Given the description of an element on the screen output the (x, y) to click on. 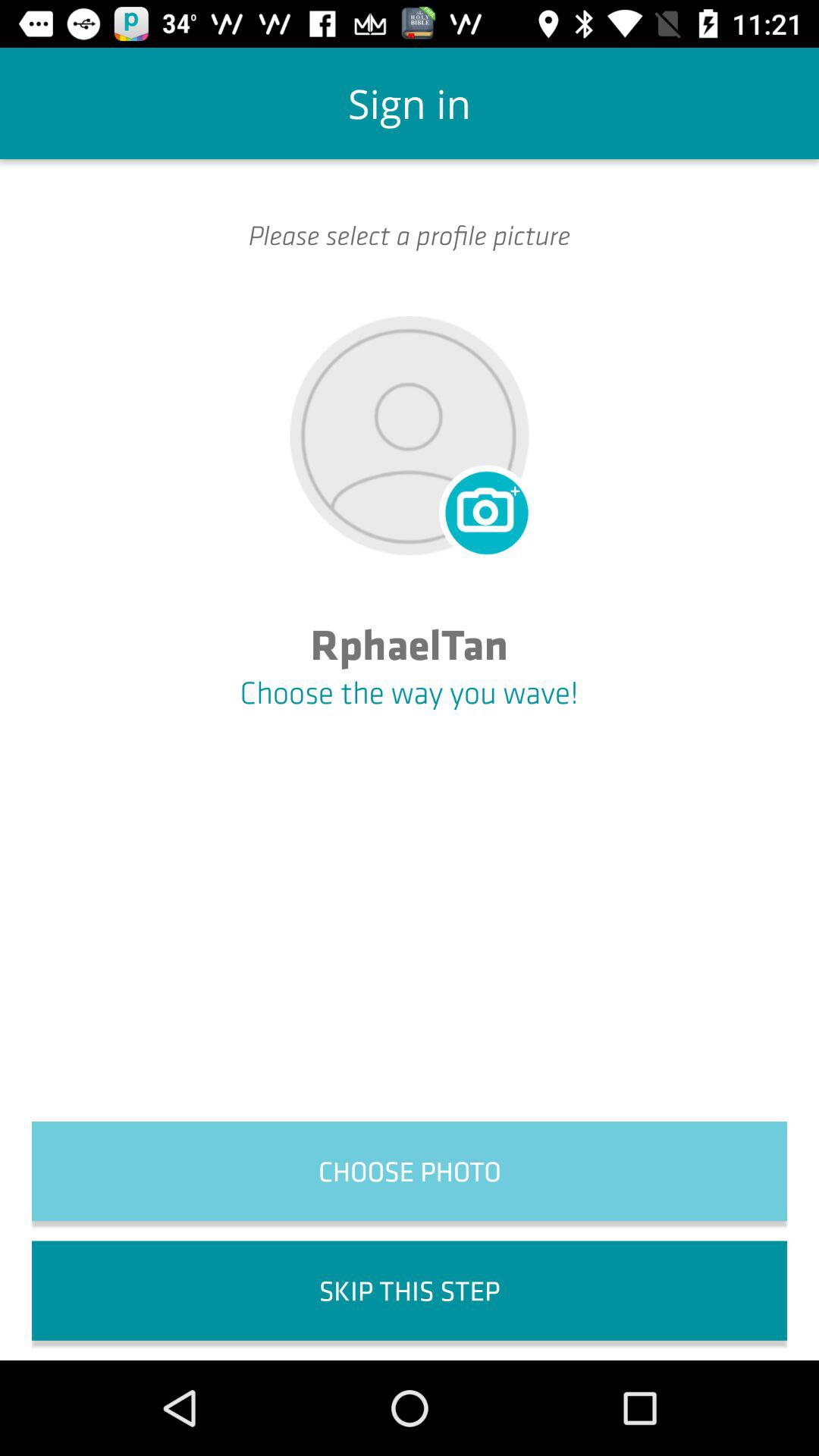
turn off icon below please select a icon (483, 510)
